Given the description of an element on the screen output the (x, y) to click on. 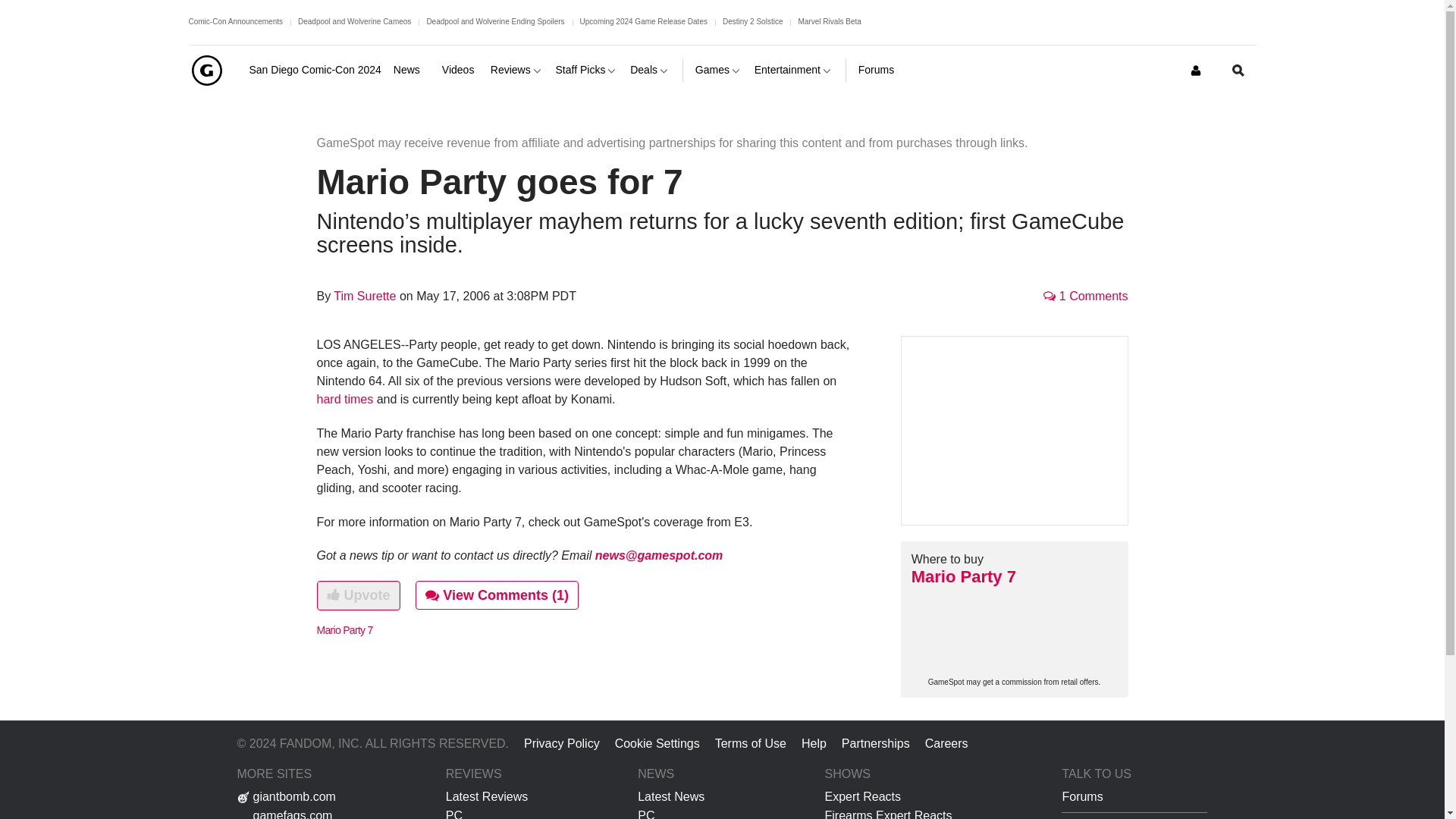
Deals (649, 70)
Games (718, 70)
Upcoming 2024 Game Release Dates (643, 21)
Videos (460, 70)
Deadpool and Wolverine Ending Spoilers (495, 21)
Comic-Con Announcements (234, 21)
San Diego Comic-Con 2024 (314, 70)
Destiny 2 Solstice (752, 21)
Marvel Rivals Beta (828, 21)
Deadpool and Wolverine Cameos (354, 21)
News (411, 70)
Staff Picks (587, 70)
GameSpot (205, 70)
Reviews (516, 70)
